Given the description of an element on the screen output the (x, y) to click on. 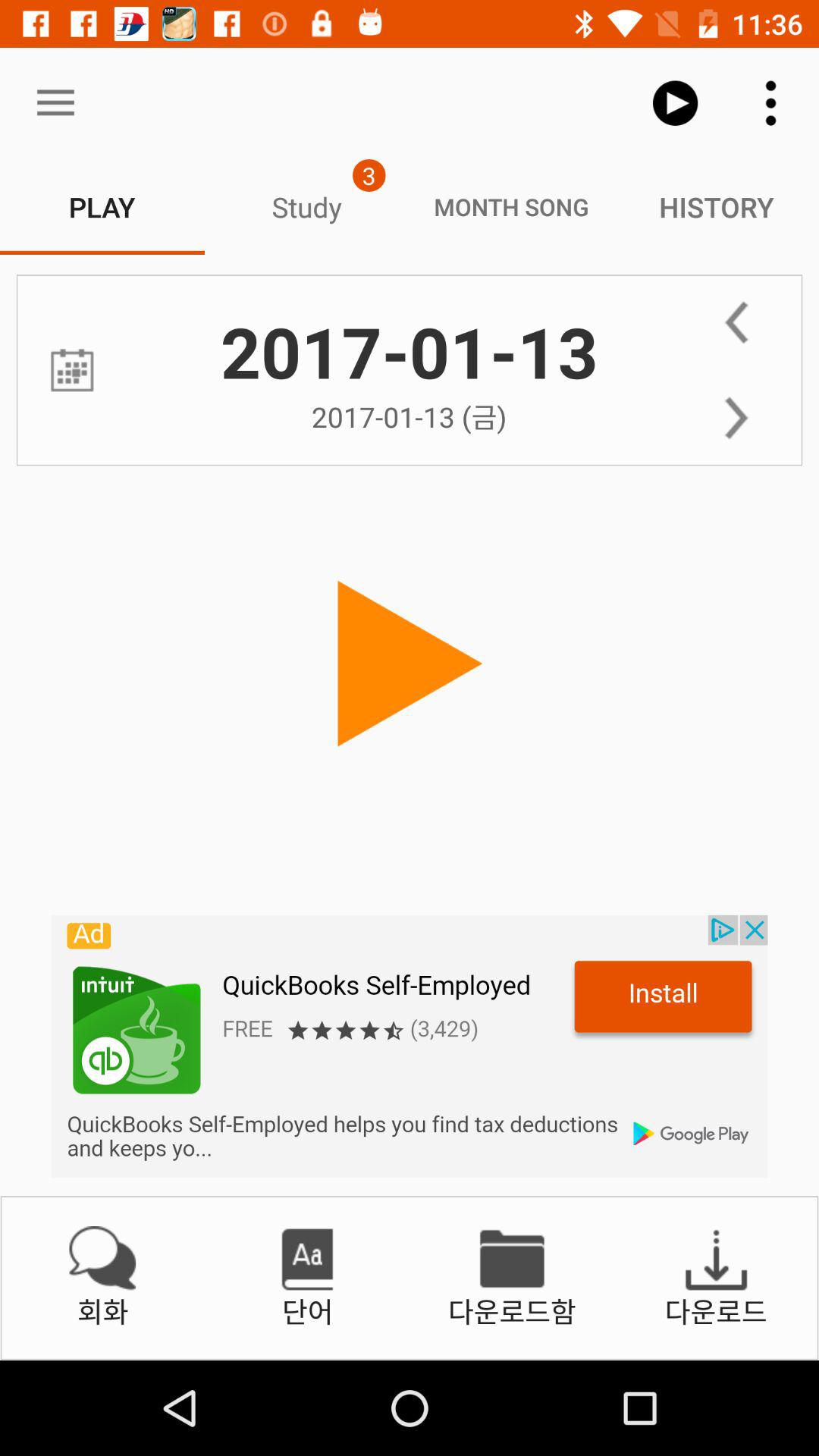
advertisement banner (409, 1046)
